Given the description of an element on the screen output the (x, y) to click on. 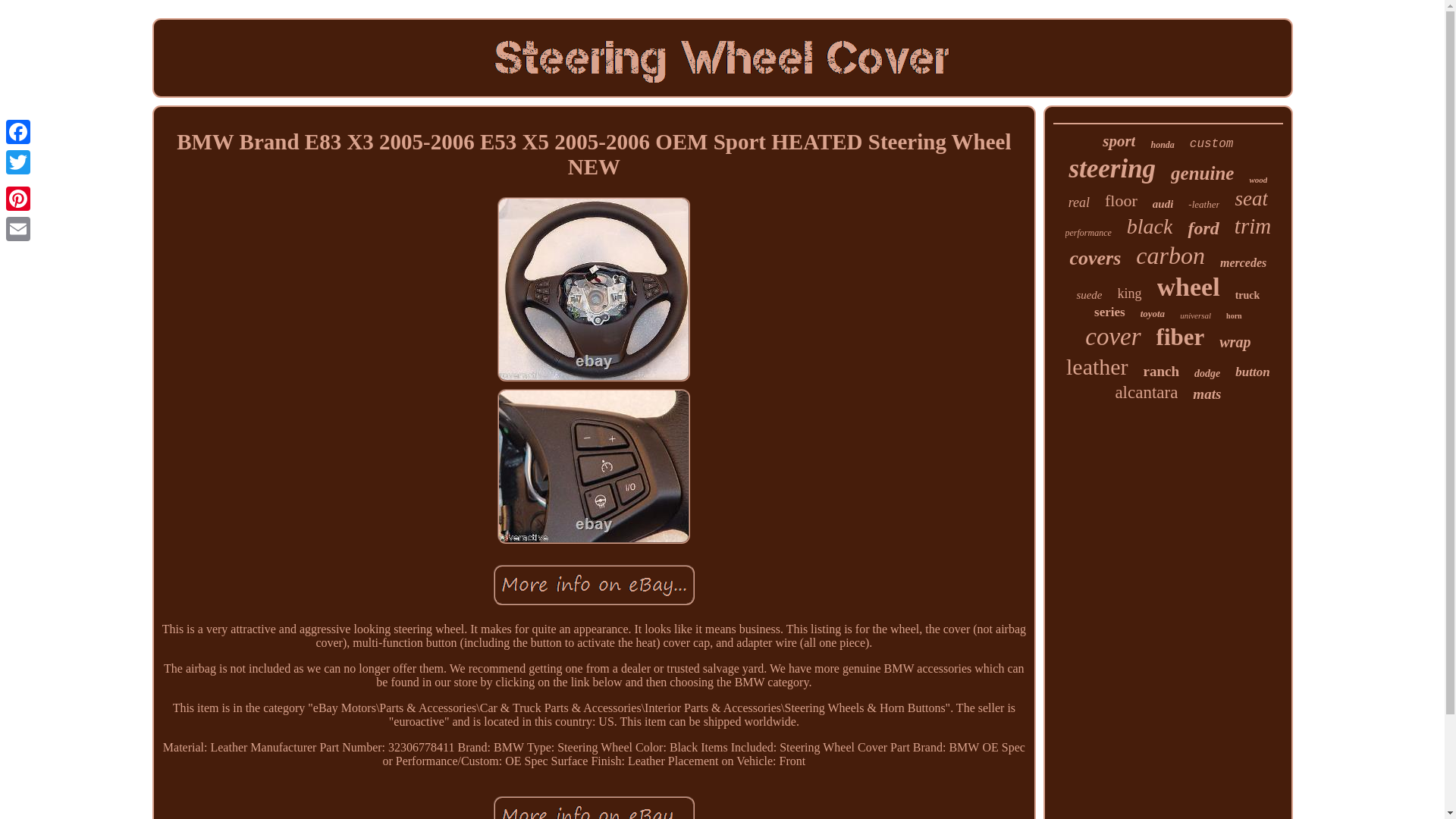
real (1078, 202)
performance (1088, 233)
mercedes (1243, 263)
covers (1094, 258)
toyota (1153, 313)
series (1109, 312)
black (1149, 226)
honda (1161, 144)
Pinterest (17, 198)
king (1129, 293)
-leather (1204, 204)
ford (1203, 228)
wood (1257, 179)
